Given the description of an element on the screen output the (x, y) to click on. 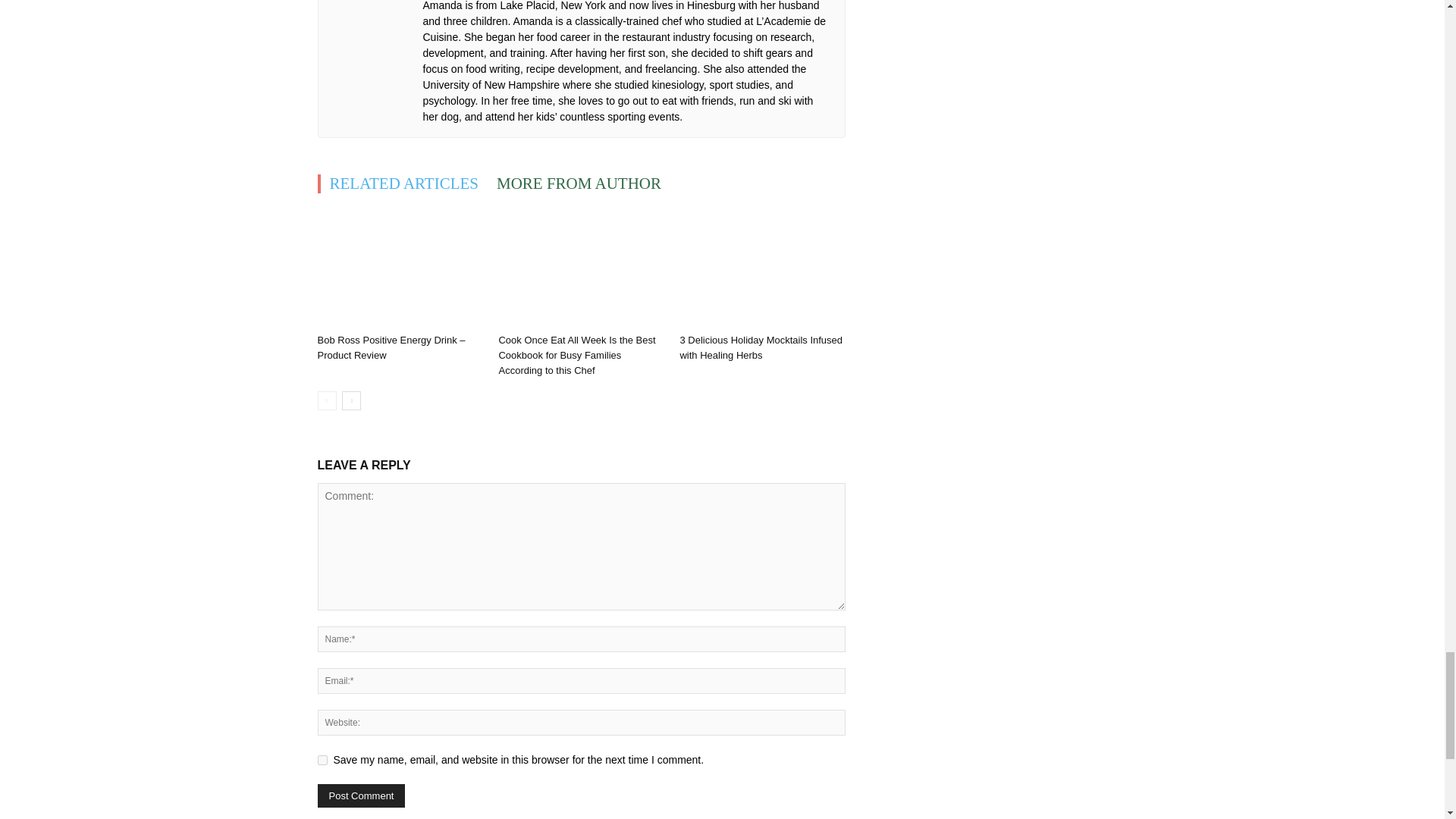
yes (321, 759)
Post Comment (360, 795)
